Given the description of an element on the screen output the (x, y) to click on. 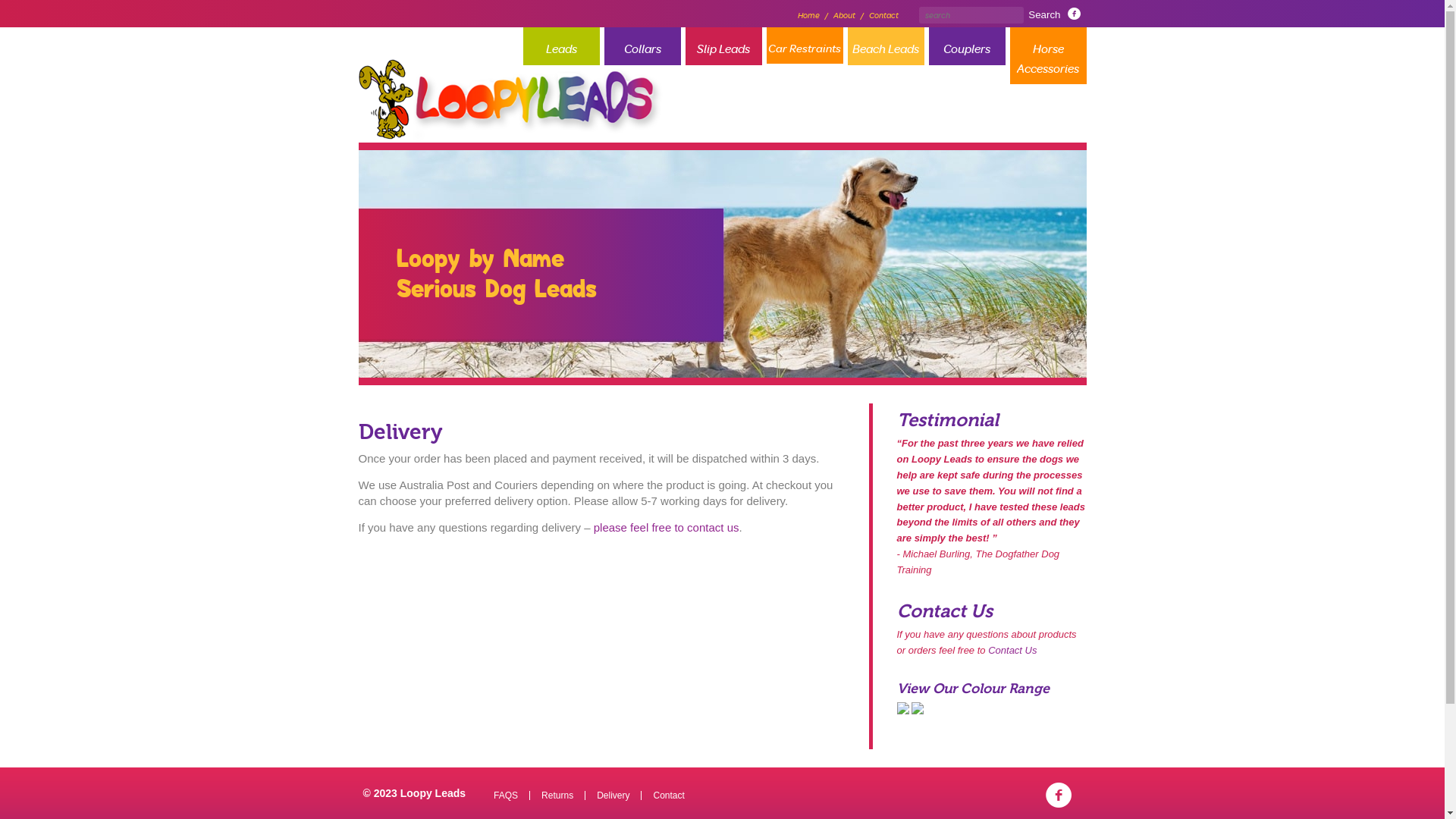
Home Element type: text (808, 15)
Beach Leads Element type: text (885, 46)
View Our Colour Range Element type: text (990, 699)
Collars Element type: text (641, 46)
Couplers Element type: text (966, 46)
f Element type: text (1073, 14)
About Element type: text (844, 15)
Returns Element type: text (557, 795)
Slip Leads Element type: text (723, 46)
Delivery Element type: text (612, 795)
Contact Us Element type: text (1012, 649)
Horse Accessories Element type: text (1048, 55)
LoopyLeads Element type: text (509, 100)
please feel free to contact us Element type: text (666, 526)
FAQS Element type: text (505, 795)
Leads Element type: text (561, 46)
f Element type: text (1057, 795)
Contact Element type: text (883, 15)
Car Restraints Element type: text (803, 45)
Contact Element type: text (668, 795)
Search Element type: text (1043, 13)
